Given the description of an element on the screen output the (x, y) to click on. 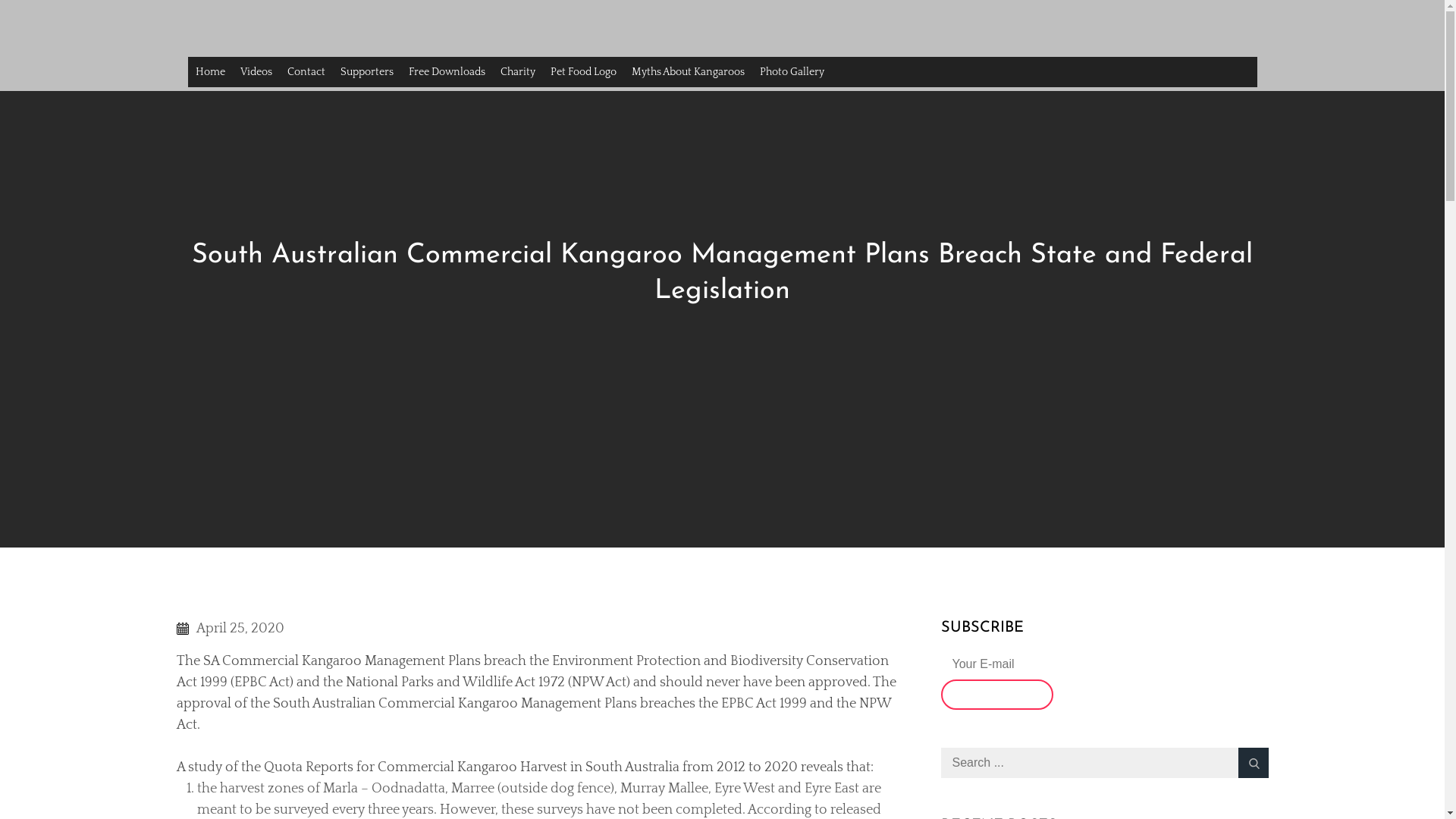
Contact Element type: text (305, 71)
Search for: Element type: hover (1103, 762)
Myths About Kangaroos Element type: text (687, 71)
Pet Food Logo Element type: text (583, 71)
Free Downloads Element type: text (446, 71)
Skip to content Element type: text (0, 0)
Home Element type: text (210, 71)
Charity Element type: text (517, 71)
Photo Gallery Element type: text (791, 71)
Supporters Element type: text (366, 71)
Search Element type: text (1252, 762)
Subscribe Element type: text (996, 694)
Videos Element type: text (255, 71)
